Given the description of an element on the screen output the (x, y) to click on. 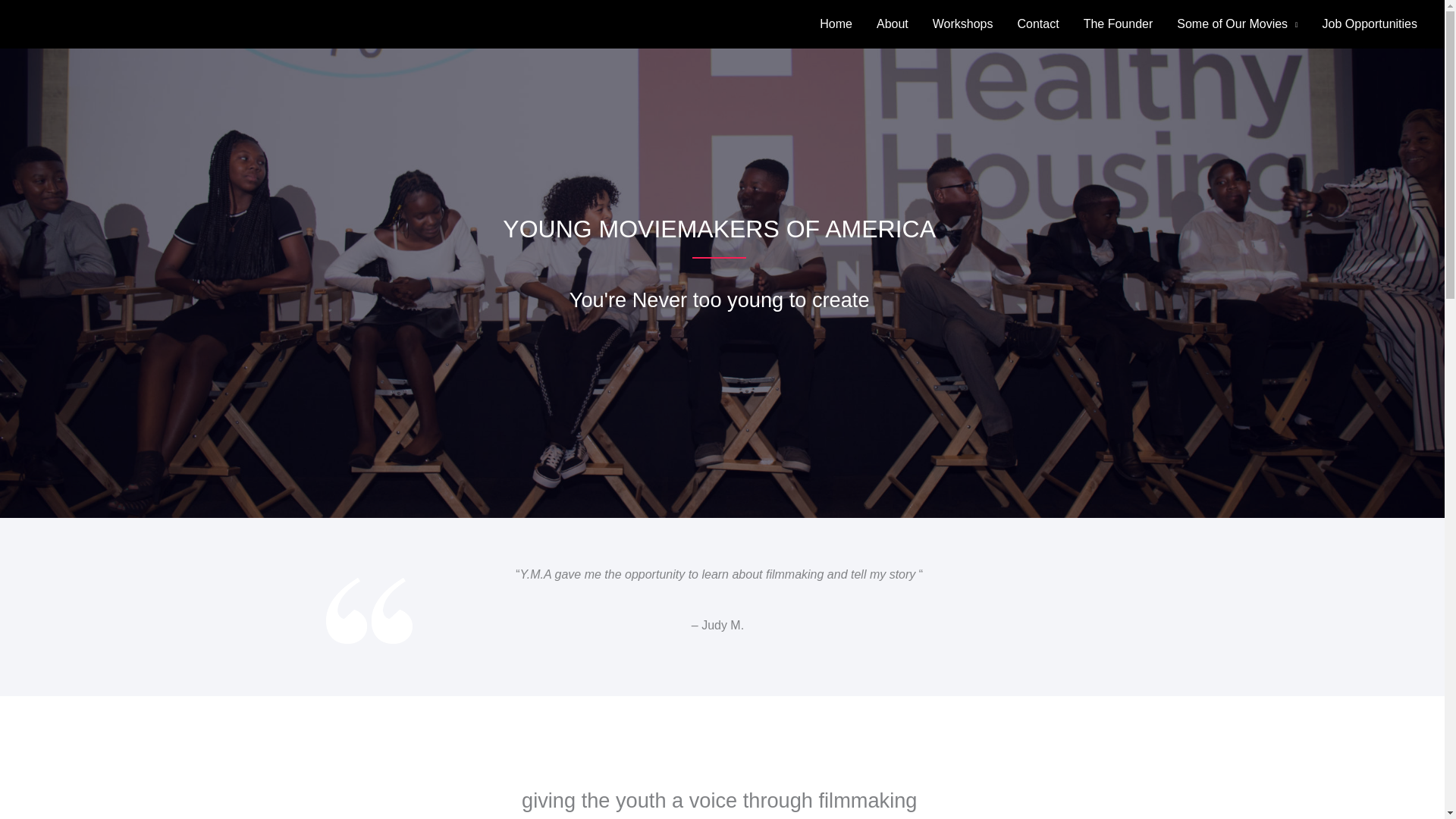
Some of Our Movies (1236, 24)
Workshops (963, 24)
Home (836, 24)
About (892, 24)
The Founder (1118, 24)
Contact (1038, 24)
Job Opportunities (1369, 24)
